Given the description of an element on the screen output the (x, y) to click on. 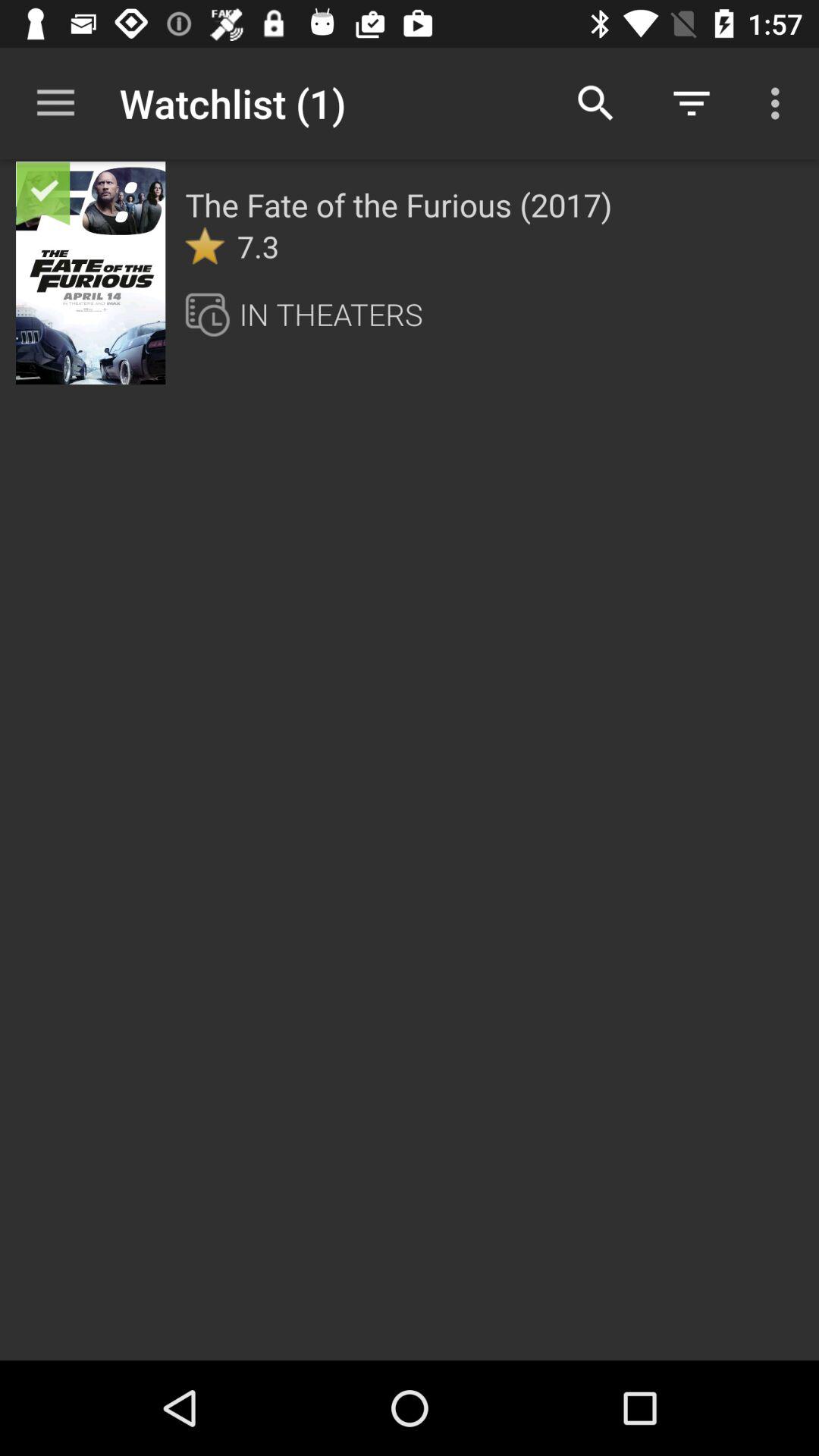
turn off item to the left of the fate of icon (90, 272)
